Given the description of an element on the screen output the (x, y) to click on. 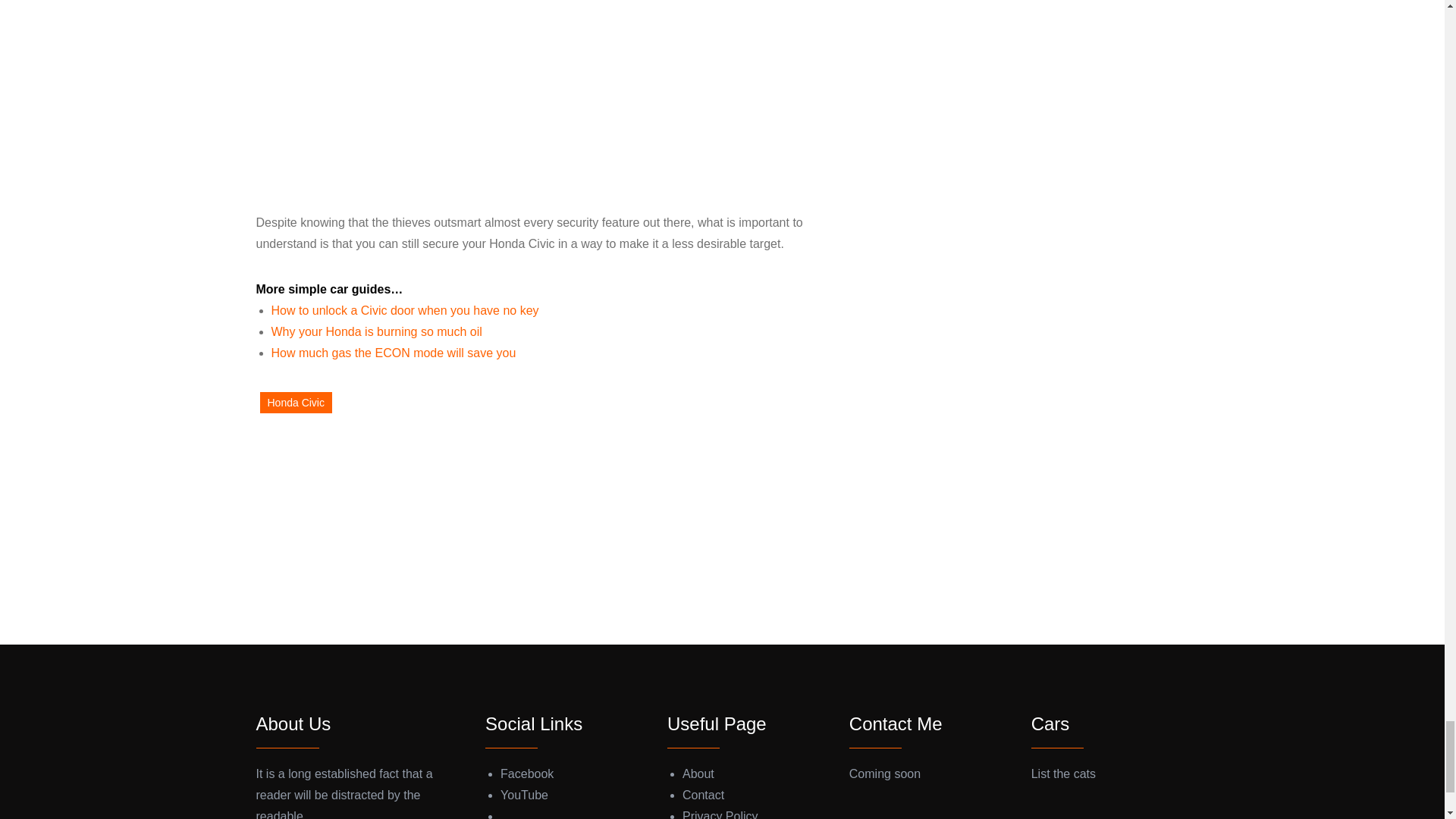
Honda Civic (295, 403)
How much gas the ECON mode will save you (393, 352)
Why your Honda is burning so much oil (375, 331)
How to unlock a Civic door when you have no key (404, 309)
